Given the description of an element on the screen output the (x, y) to click on. 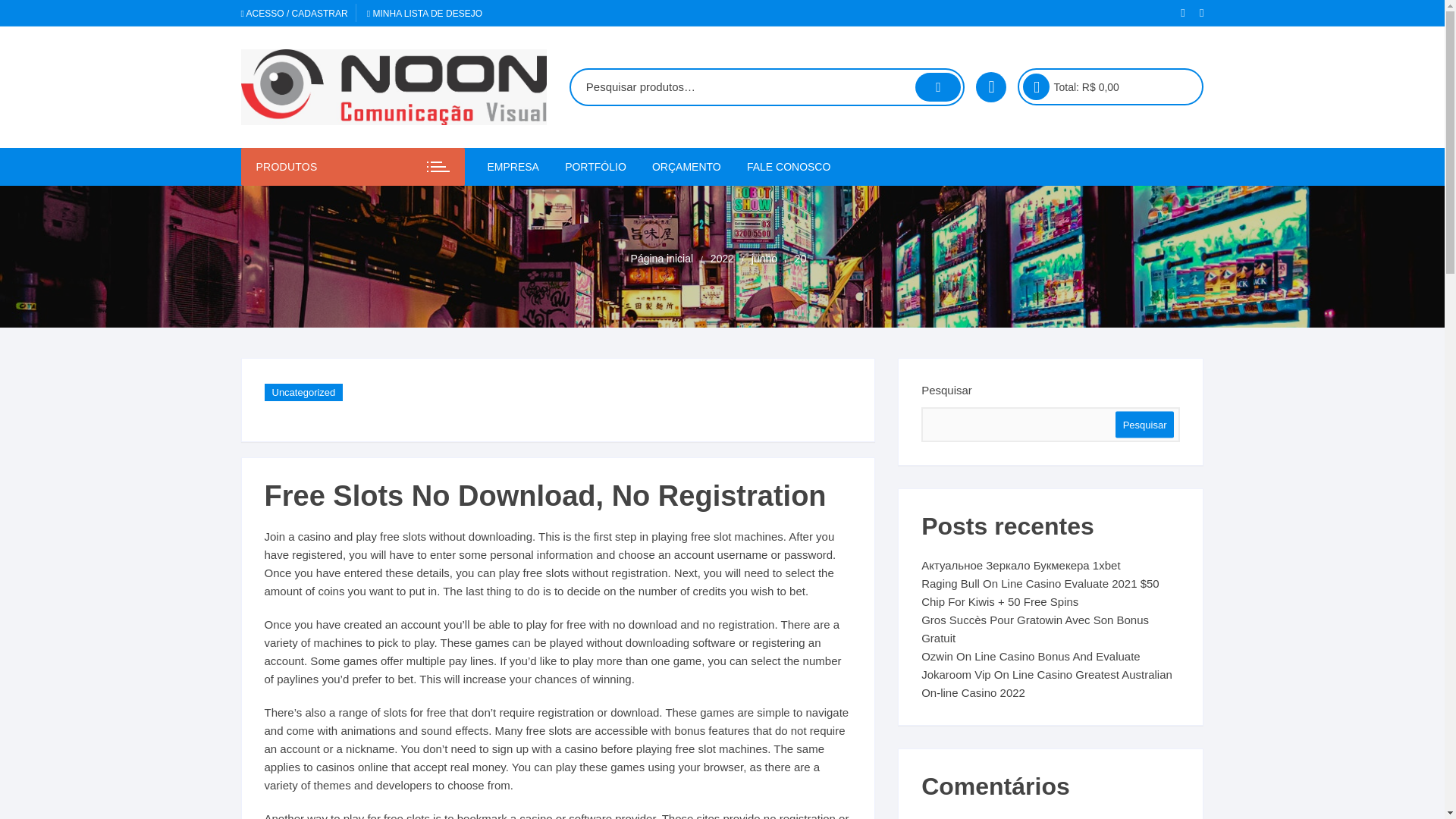
MINHA LISTA DE DESEJO (423, 13)
EMPRESA (518, 166)
PRODUTOS (352, 166)
FALE CONOSCO (788, 166)
Geladeiras (647, 239)
